Given the description of an element on the screen output the (x, y) to click on. 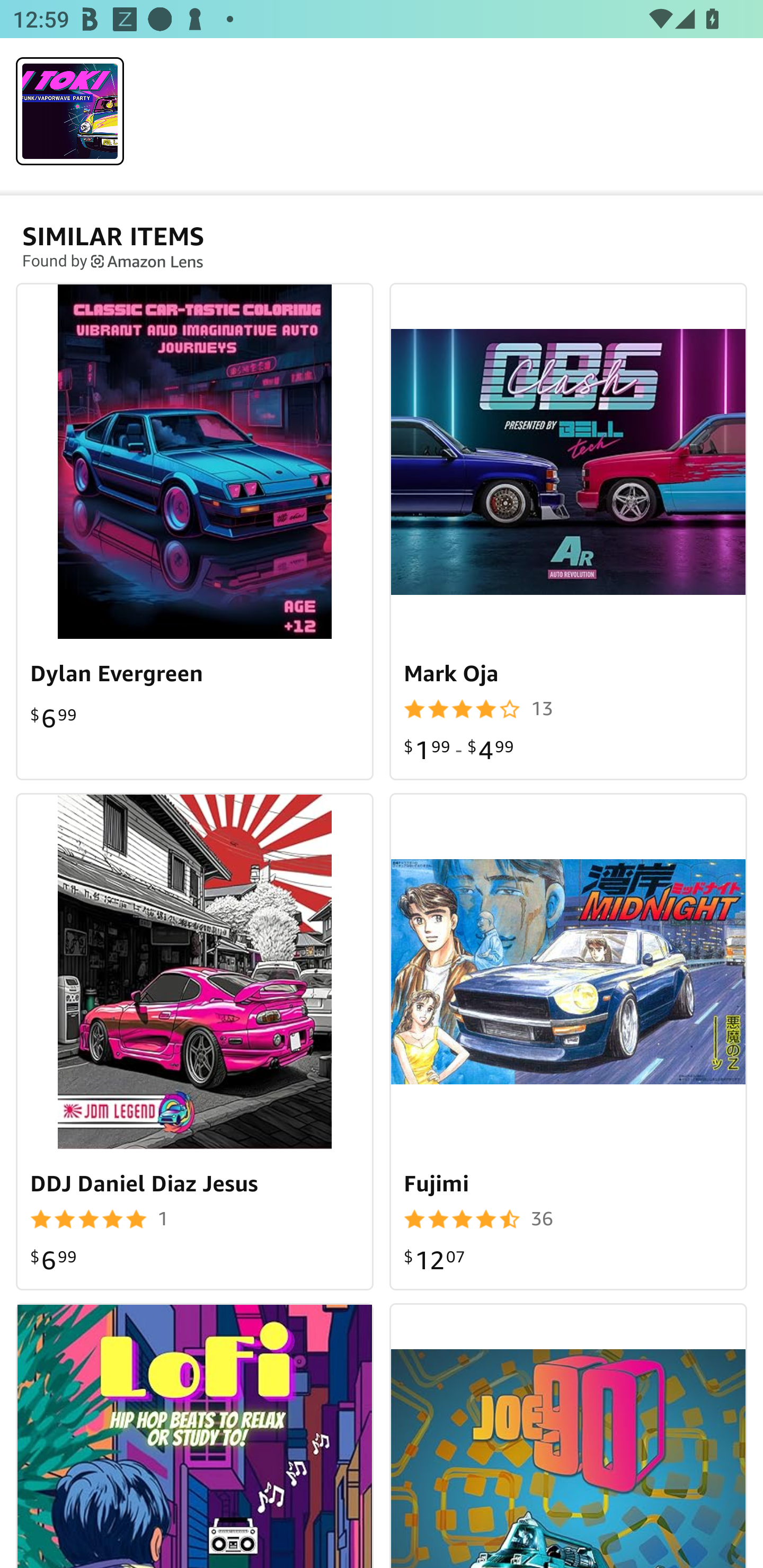
Dylan Evergreen $ 6 99 (194, 531)
Mark Oja 13 $ 1 99  -  $ 4 99 (567, 531)
DDJ Daniel Diaz Jesus 1 $ 6 99 (194, 1041)
Fujimi 36 $ 12 07 (567, 1041)
